Given the description of an element on the screen output the (x, y) to click on. 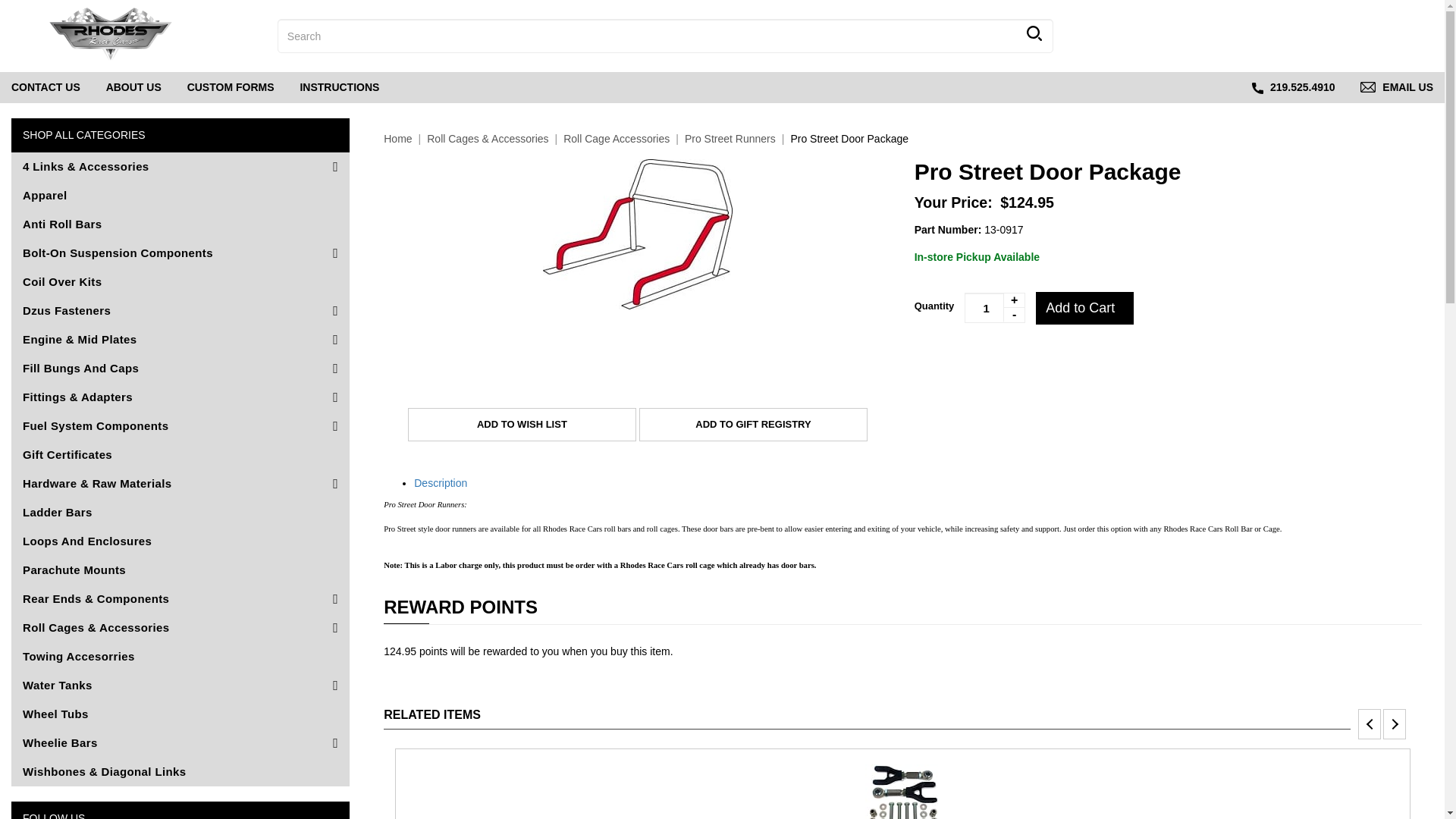
CUSTOM FORMS (230, 87)
Dzus Fasteners (180, 310)
Coil Over Kits (180, 281)
219.525.4910 (1293, 87)
Anti Roll Bars (180, 224)
Bolt-On Suspension Components (180, 253)
CONTACT US (1268, 37)
ABOUT US (45, 87)
INSTRUCTIONS (133, 87)
0 Items (339, 87)
1 (1363, 37)
Apparel (994, 307)
